Given the description of an element on the screen output the (x, y) to click on. 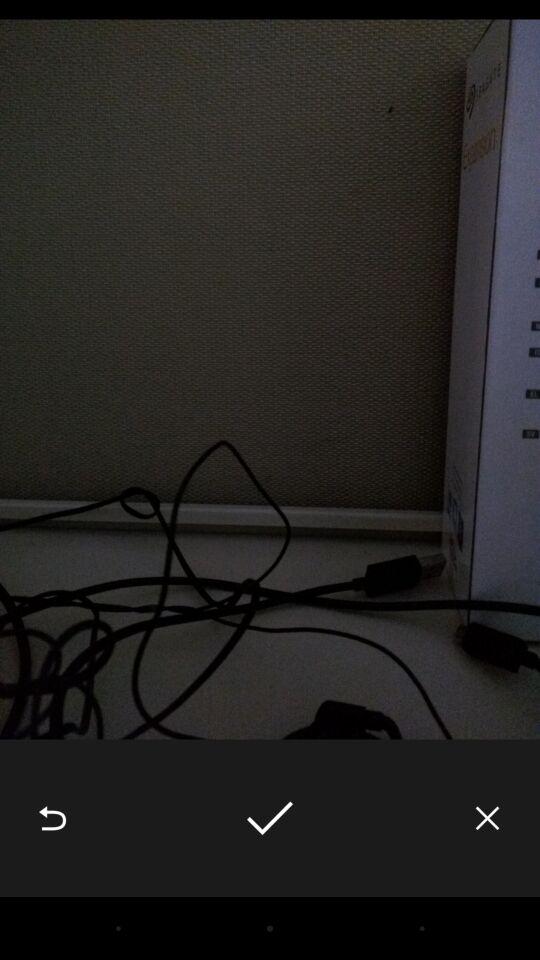
tap icon at the bottom left corner (52, 817)
